Given the description of an element on the screen output the (x, y) to click on. 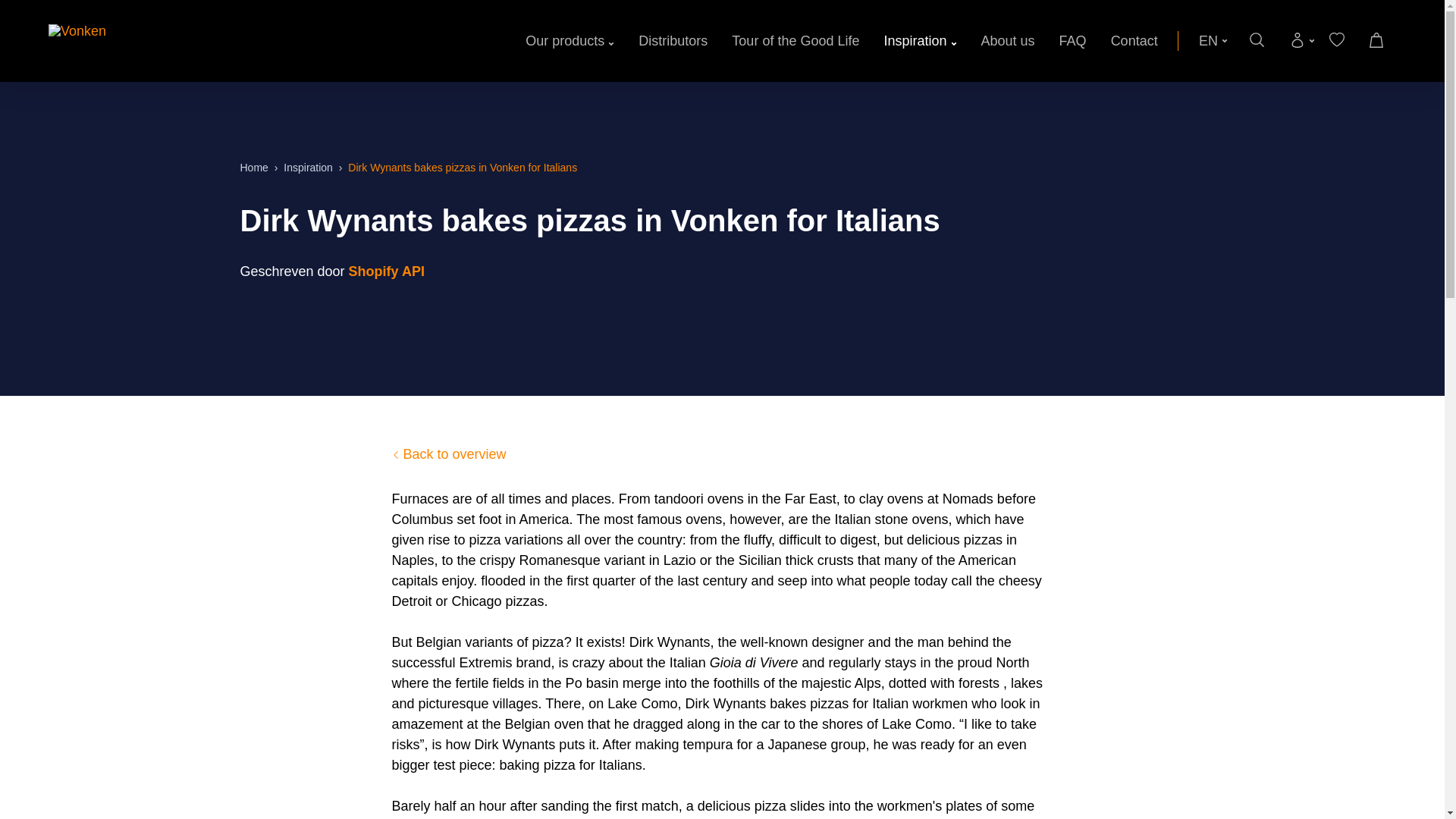
About us (1008, 40)
Tour of the Good Life (795, 40)
Distributors (673, 40)
Contact (1133, 40)
EN (1212, 40)
Sign In (1187, 241)
Our products (569, 40)
Back to the home page (253, 167)
FAQ (1072, 40)
Inspiration (919, 40)
